Given the description of an element on the screen output the (x, y) to click on. 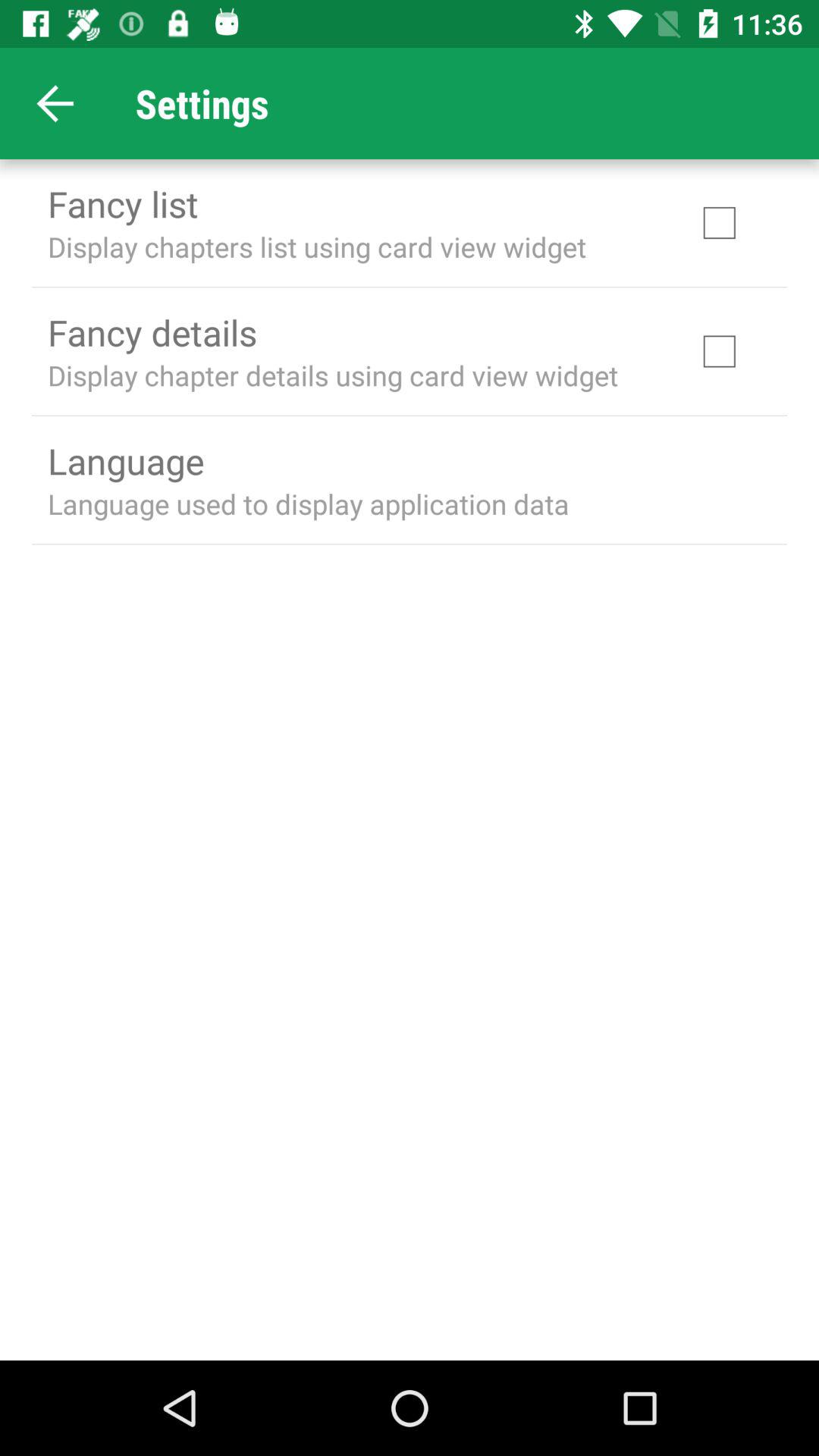
swipe until the language used to item (308, 503)
